Given the description of an element on the screen output the (x, y) to click on. 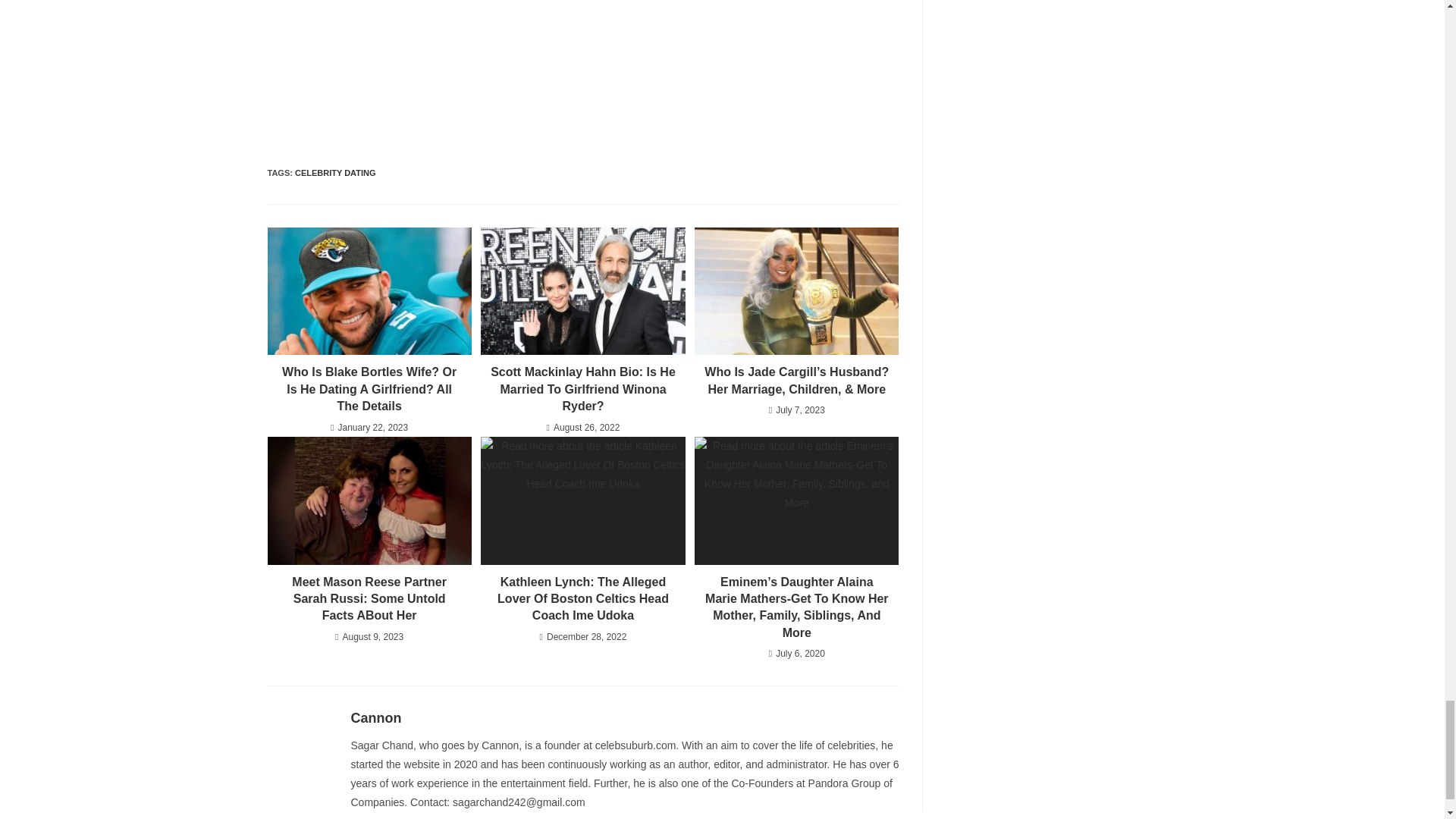
Visit author page (375, 717)
CELEBRITY DATING (335, 172)
